Given the description of an element on the screen output the (x, y) to click on. 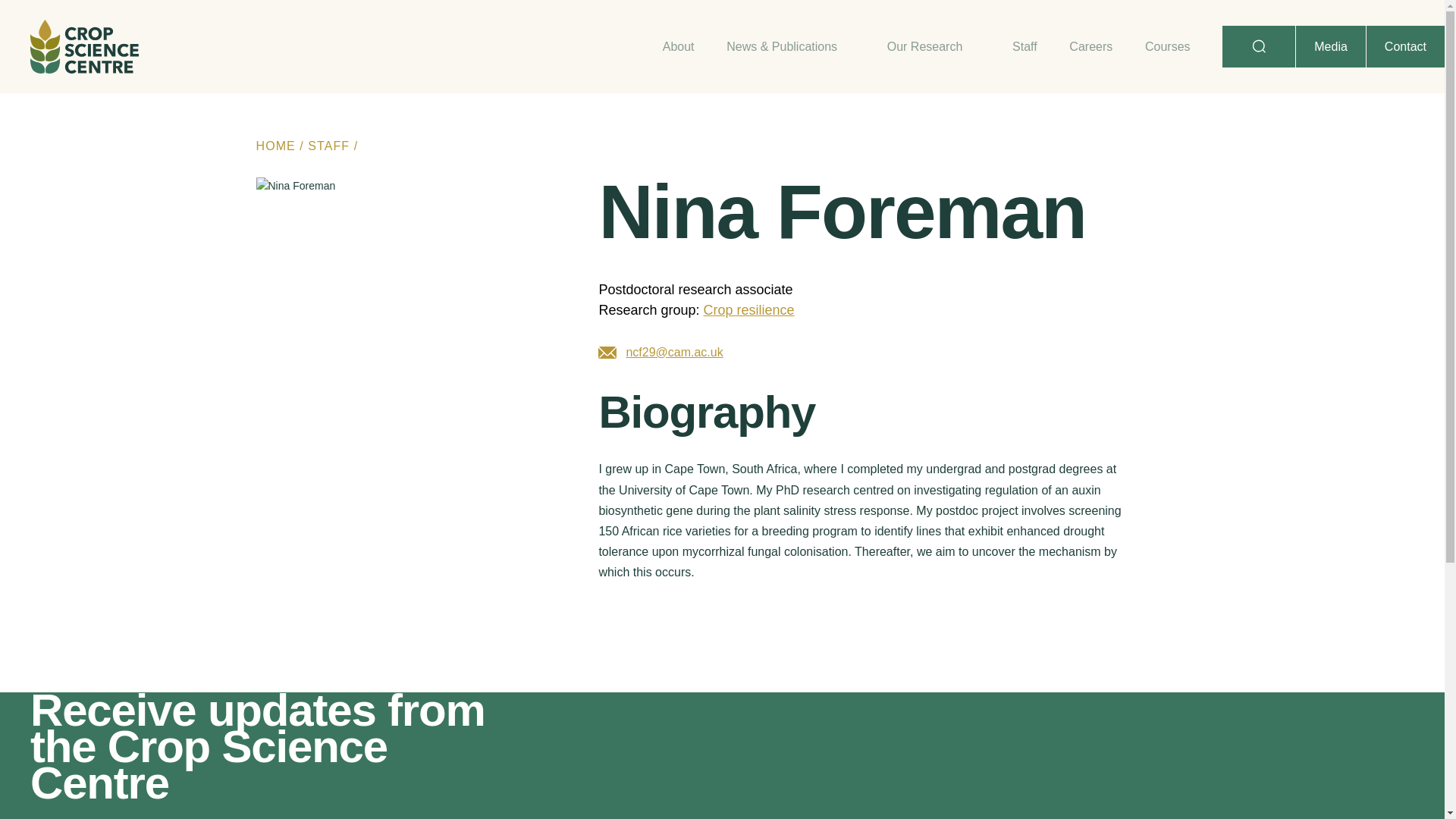
Staff (1023, 46)
About (678, 46)
Courses (1167, 46)
Search (46, 20)
Our Research (932, 46)
Crop resilience (748, 309)
Careers (1090, 46)
STAFF (328, 145)
HOME (275, 145)
Media (1330, 46)
